Given the description of an element on the screen output the (x, y) to click on. 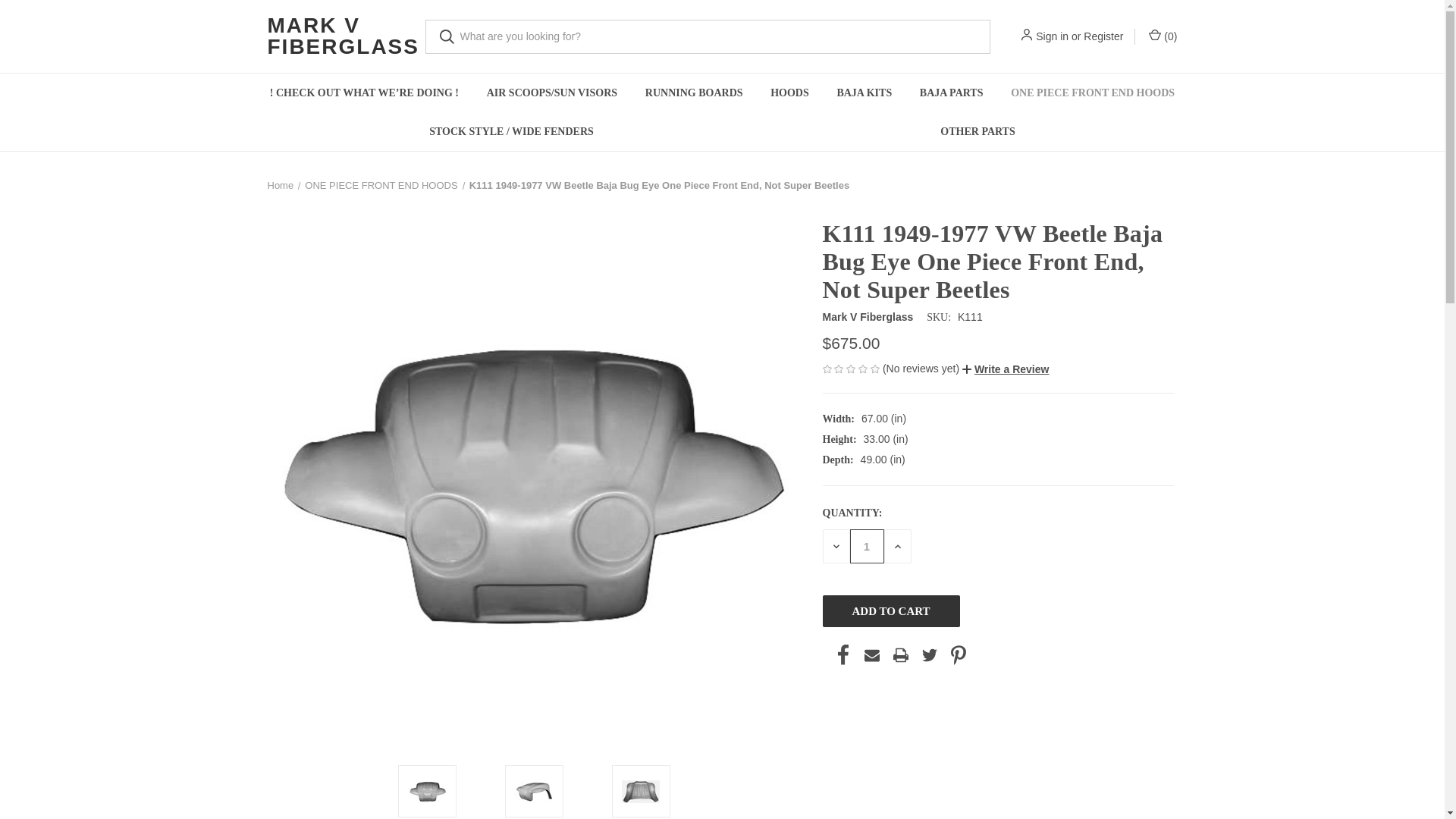
OTHER PARTS (978, 131)
Register (1102, 36)
Add to Cart (890, 611)
ONE PIECE FRONT END HOODS (1093, 92)
RUNNING BOARDS (692, 92)
Mark V Fiberglass (867, 316)
ONE PIECE FRONT END HOODS (380, 184)
